Given the description of an element on the screen output the (x, y) to click on. 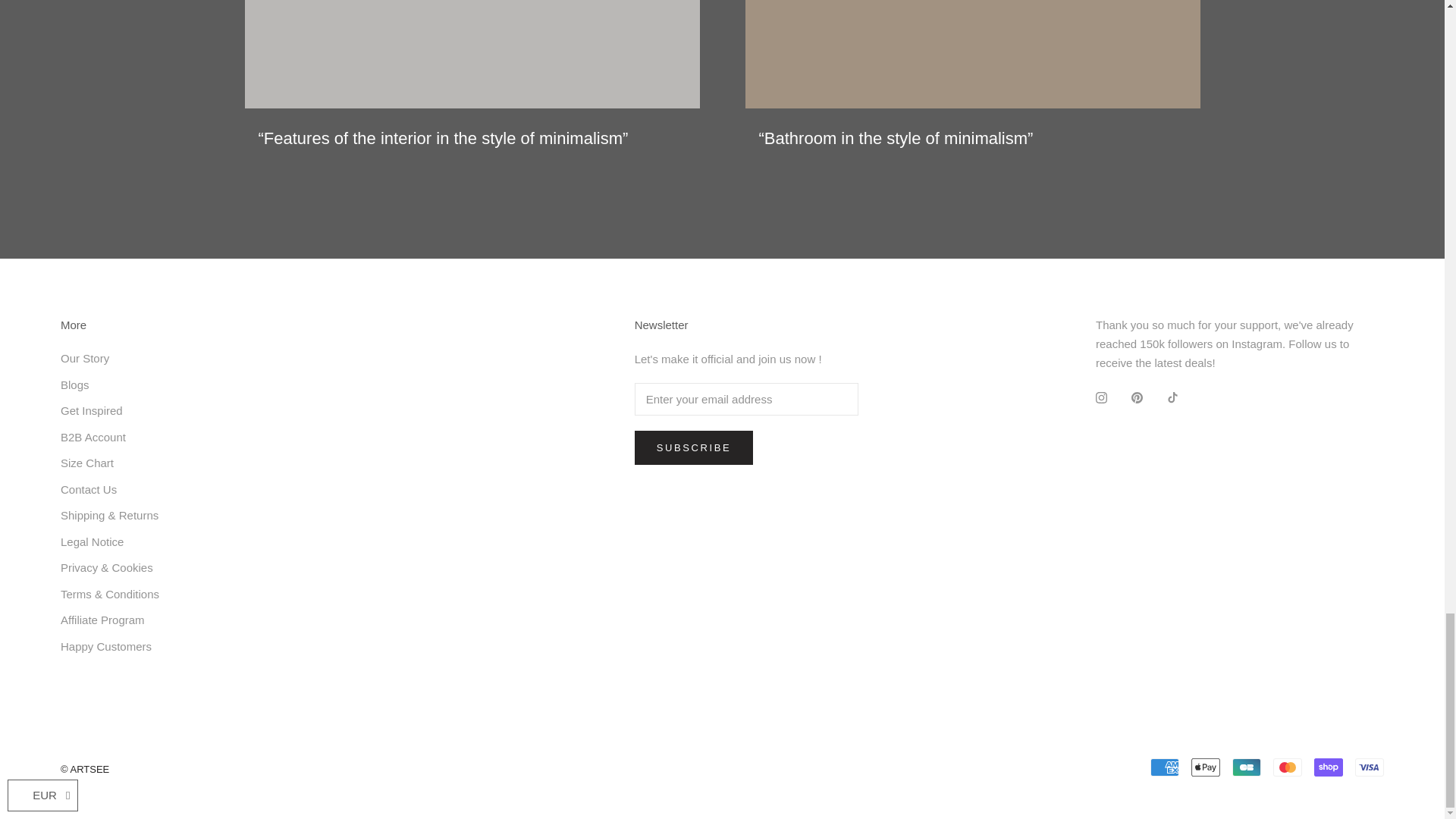
American Express (1164, 767)
Shop Pay (1328, 767)
Visa (1369, 767)
Cartes Bancaires (1245, 767)
Mastercard (1286, 767)
Apple Pay (1205, 767)
